Given the description of an element on the screen output the (x, y) to click on. 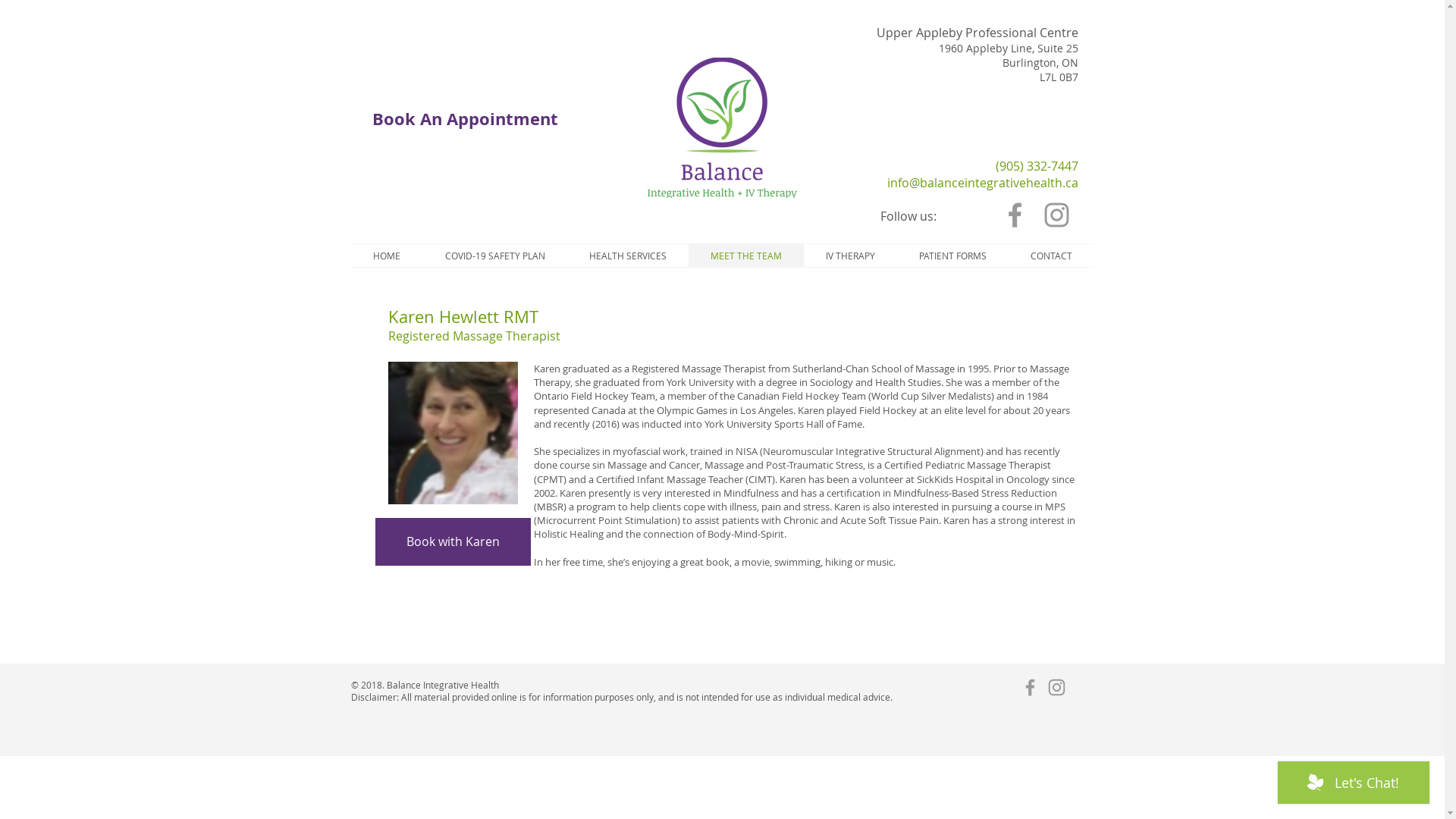
IV THERAPY Element type: text (850, 255)
MEET THE TEAM Element type: text (745, 255)
CONTACT Element type: text (1051, 255)
COVID-19 SAFETY PLAN Element type: text (495, 255)
PATIENT FORMS Element type: text (951, 255)
HOME Element type: text (386, 255)
info@balanceintegrativehealth.ca Element type: text (982, 182)
Book with Karen Element type: text (452, 541)
HEALTH SERVICES Element type: text (627, 255)
Book An Appointment Element type: text (464, 119)
